Given the description of an element on the screen output the (x, y) to click on. 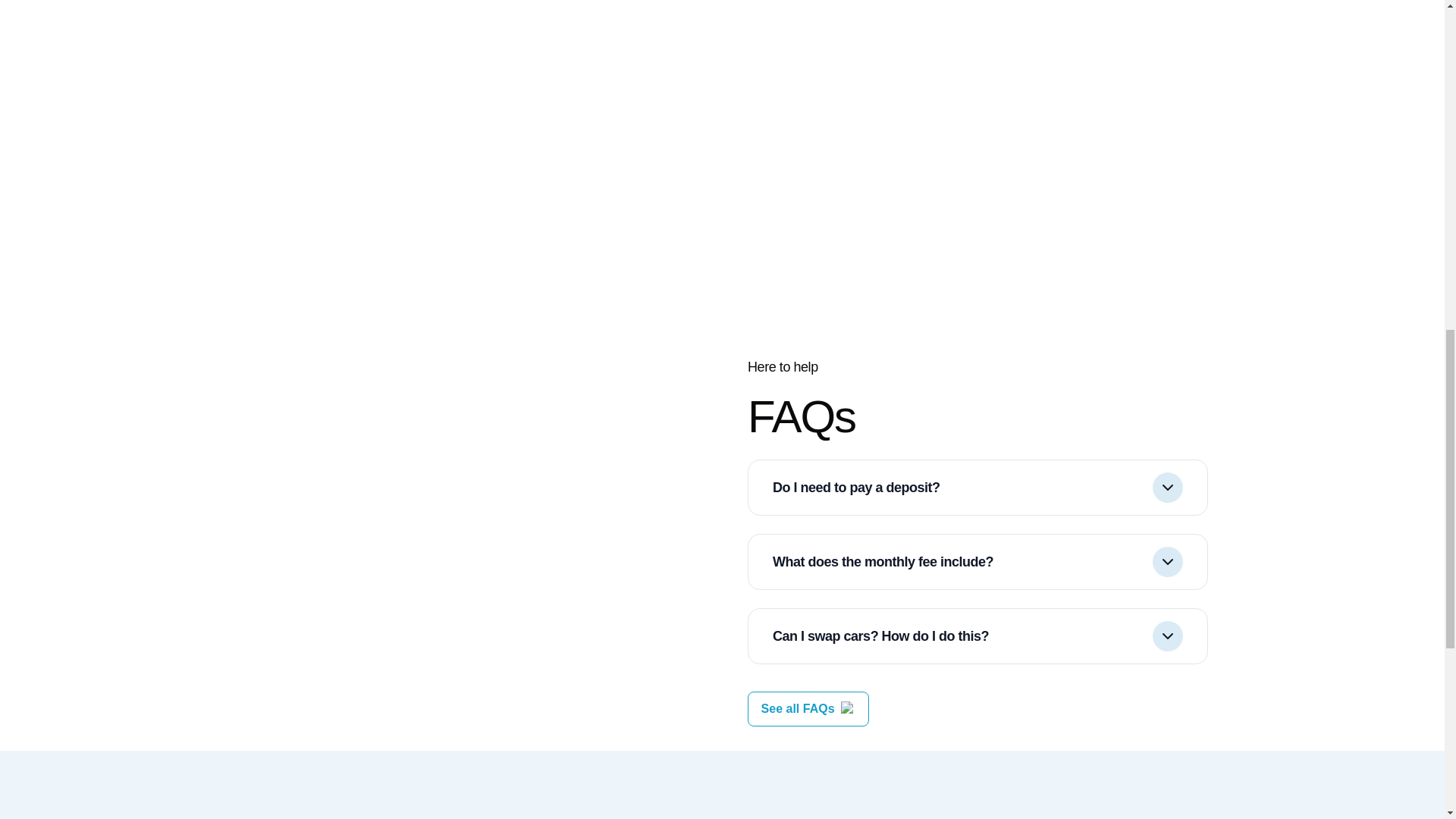
See all FAQs (797, 709)
What does the monthly fee include? (977, 561)
Do I need to pay a deposit? (977, 487)
Can I swap cars? How do I do this? (977, 636)
